Given the description of an element on the screen output the (x, y) to click on. 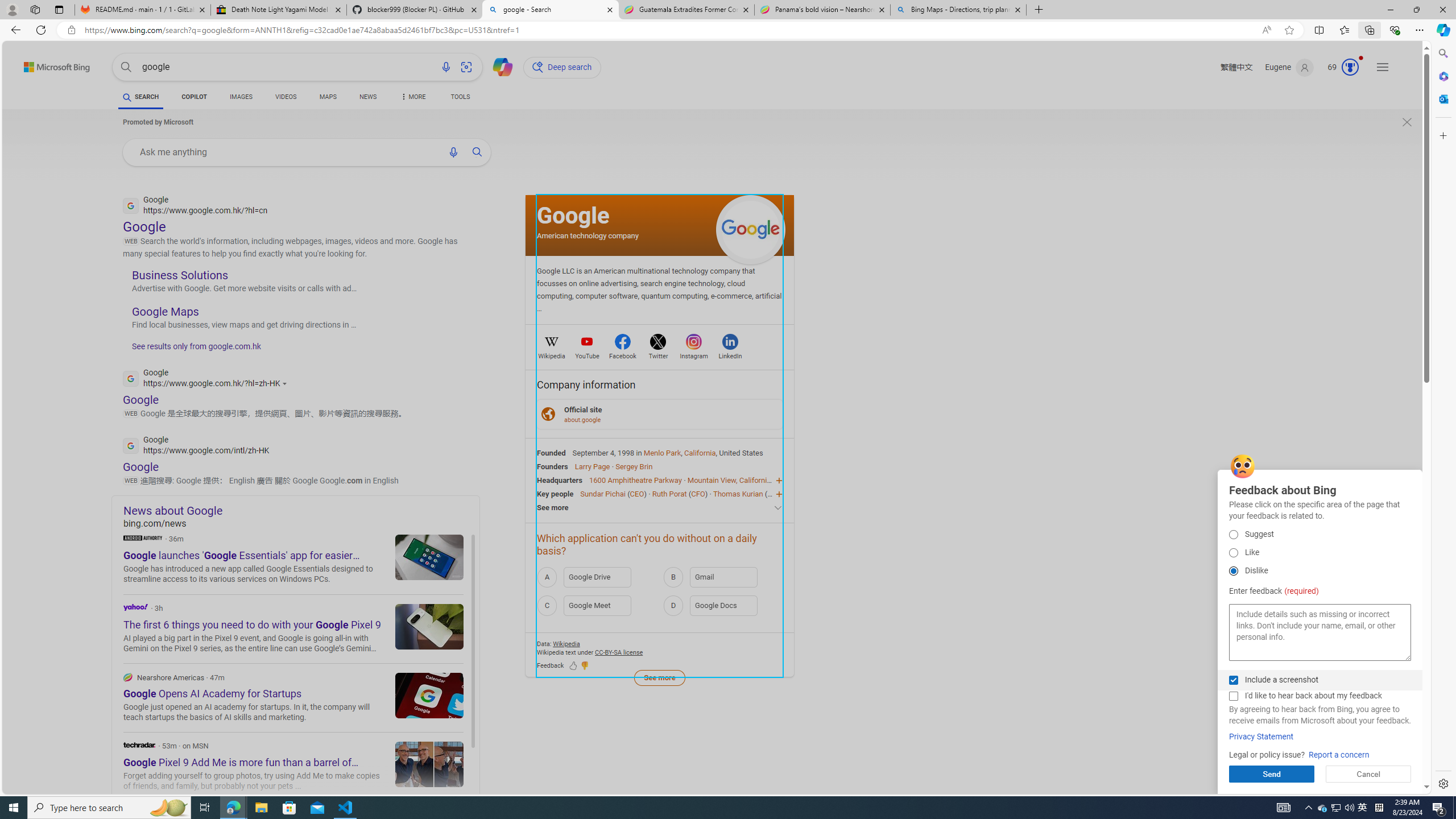
I'd like to hear back about my feedback (1232, 696)
Suggest (1232, 533)
